Given the description of an element on the screen output the (x, y) to click on. 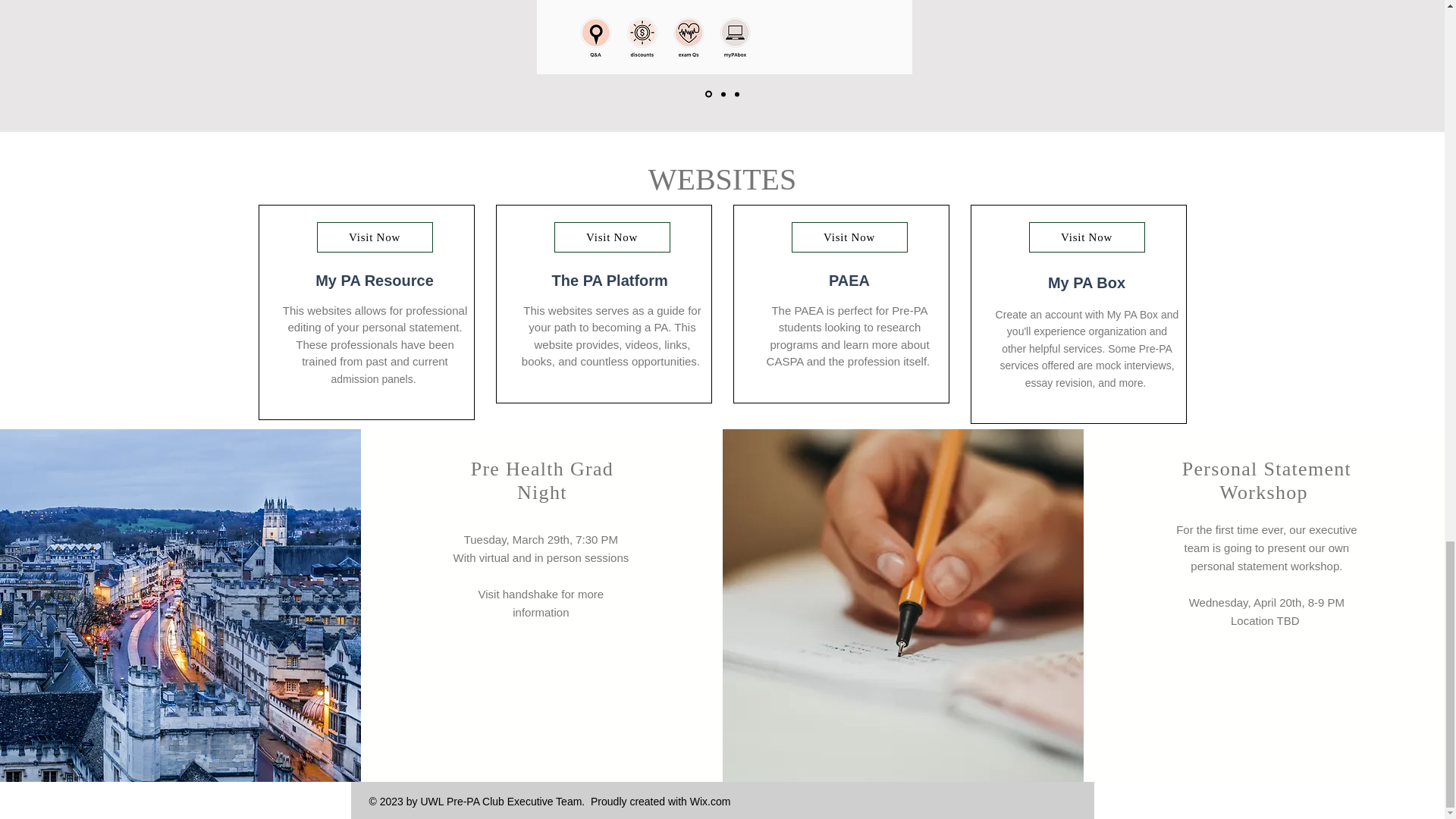
Visit Now (849, 236)
Visit Now (374, 236)
Visit Now (1085, 236)
Wix.com (710, 801)
Visit Now (611, 236)
